Given the description of an element on the screen output the (x, y) to click on. 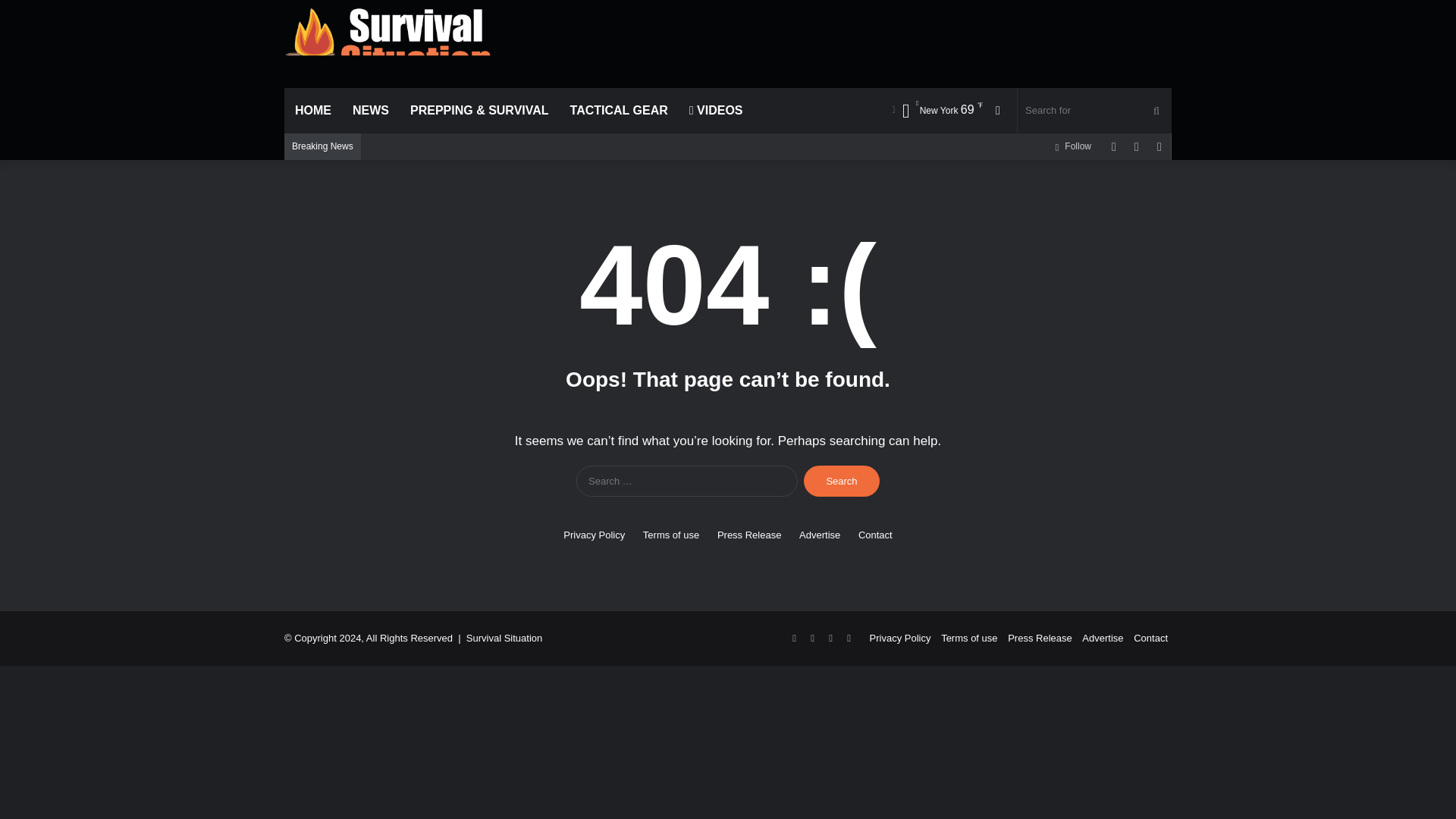
TACTICAL GEAR (618, 110)
NEWS (370, 110)
Search for (1094, 110)
Advertise (819, 534)
Search (841, 481)
Privacy Policy (593, 534)
Survival Situation (387, 43)
Terms of use (670, 534)
Scattered Clouds (937, 109)
Press Release (749, 534)
